Given the description of an element on the screen output the (x, y) to click on. 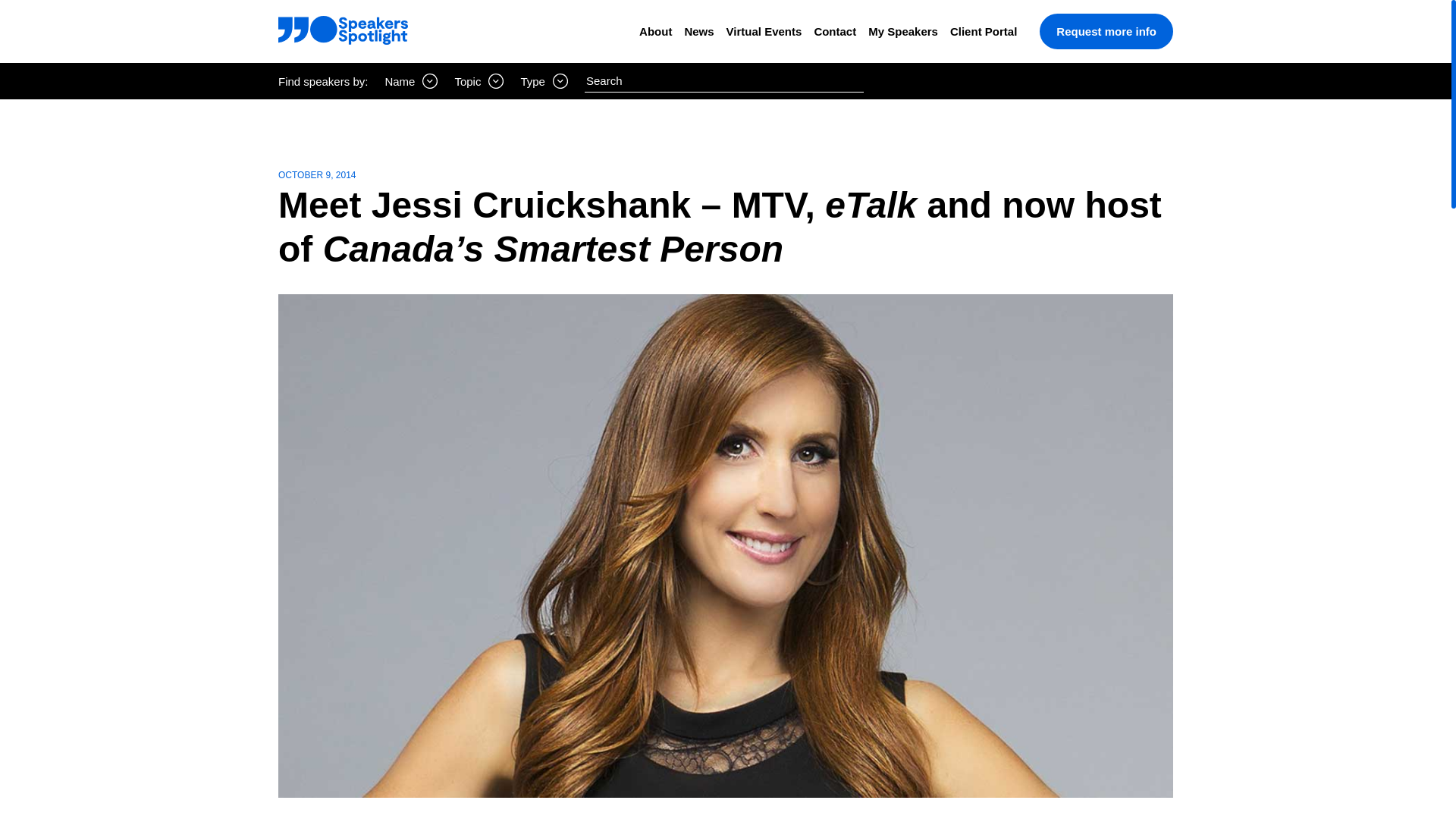
Name (411, 80)
Request more info (1106, 31)
Virtual Events (764, 31)
My Speakers (902, 31)
Contact (834, 31)
Client Portal (983, 31)
About (655, 31)
